Given the description of an element on the screen output the (x, y) to click on. 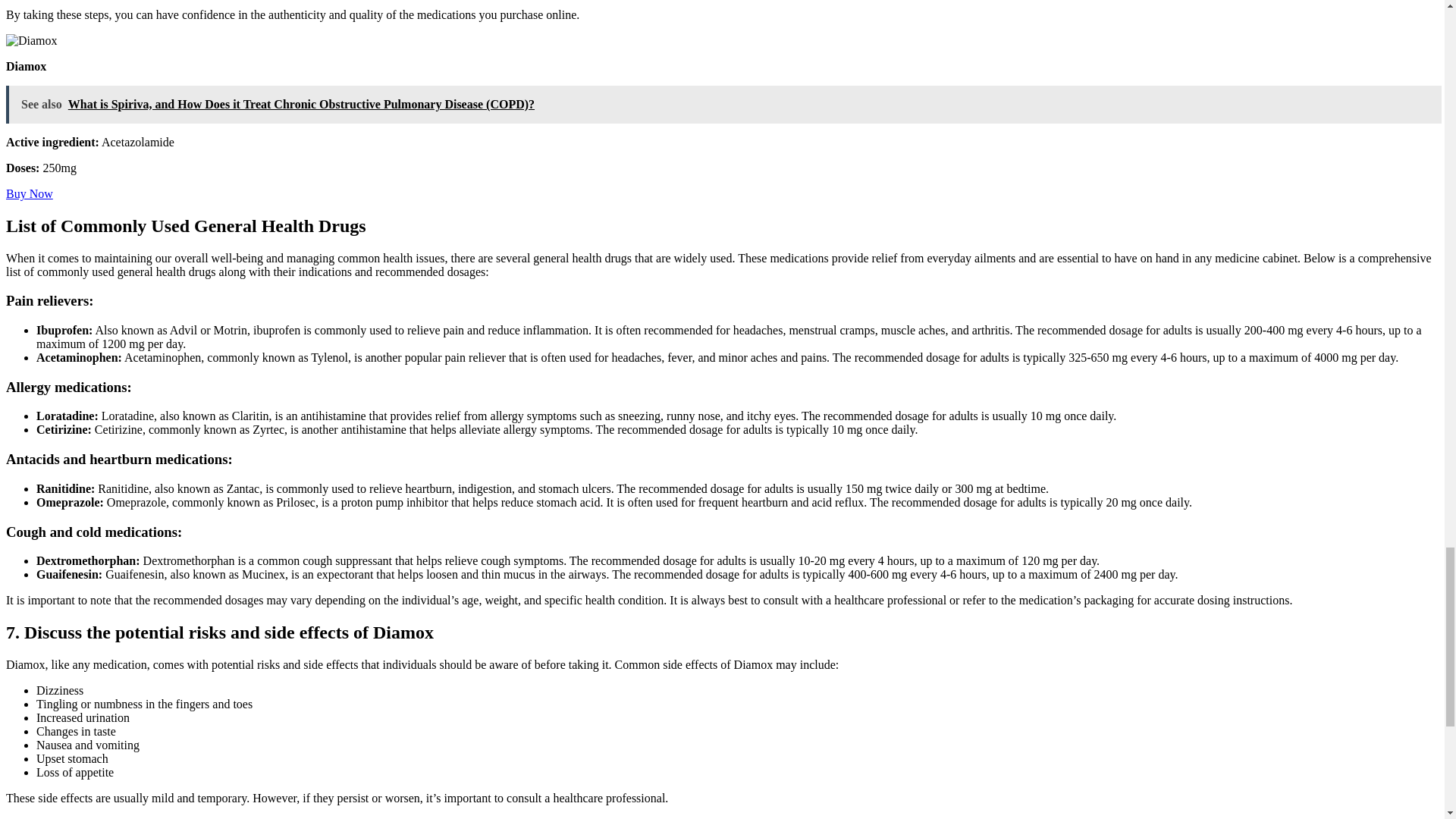
Buy Now (28, 193)
Buy Now (28, 193)
